Given the description of an element on the screen output the (x, y) to click on. 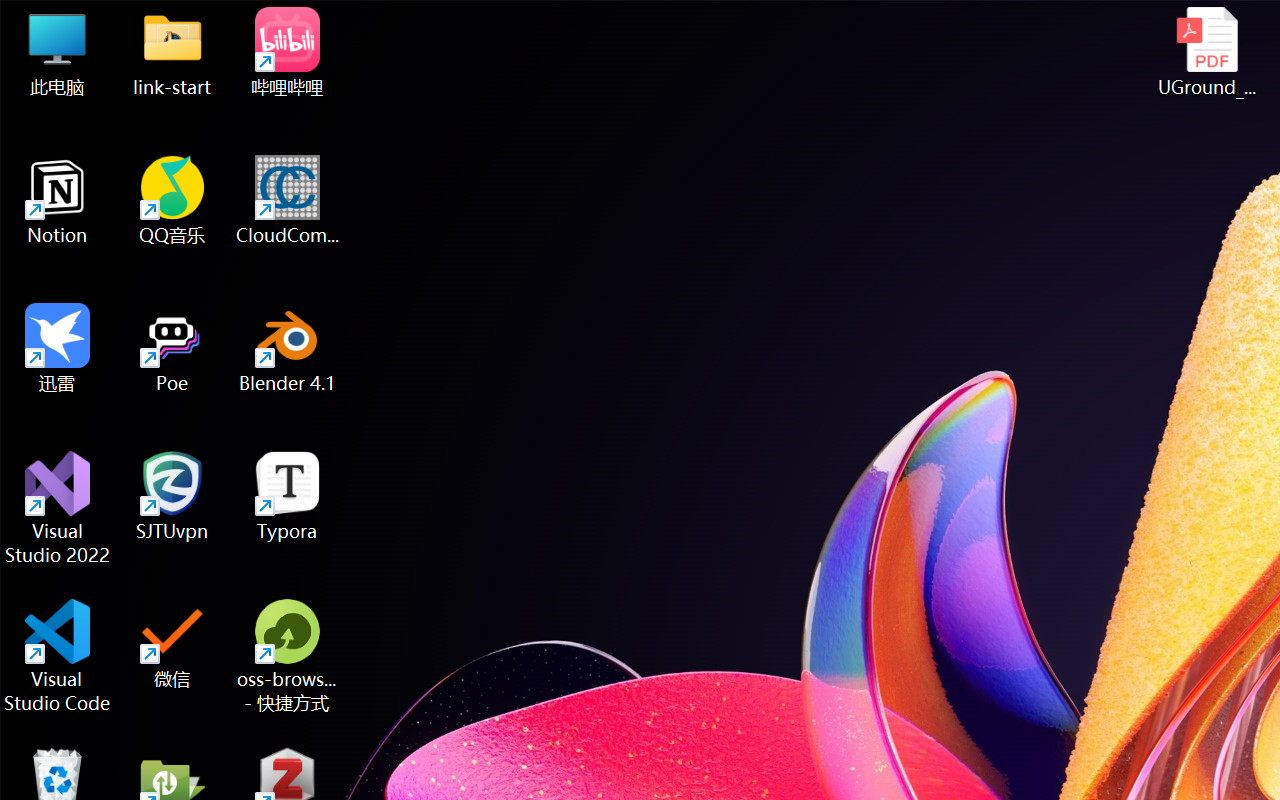
CloudCompare (287, 200)
Visual Studio 2022 (57, 508)
Visual Studio Code (57, 656)
Notion (57, 200)
Typora (287, 496)
Poe (172, 348)
UGround_paper.pdf (1206, 52)
Blender 4.1 (287, 348)
SJTUvpn (172, 496)
